Given the description of an element on the screen output the (x, y) to click on. 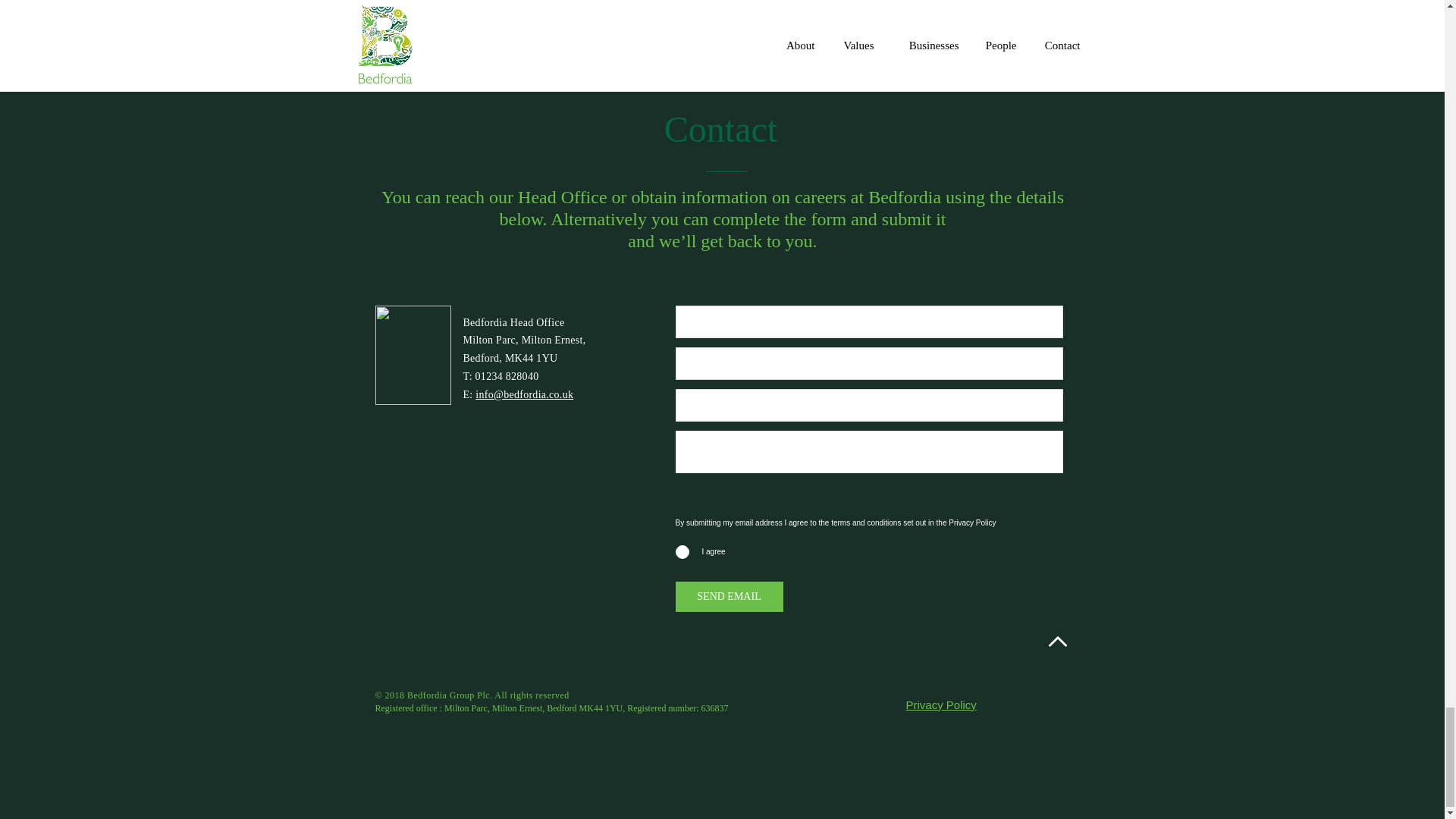
Privacy Policy (940, 705)
SEND EMAIL (729, 596)
